Given the description of an element on the screen output the (x, y) to click on. 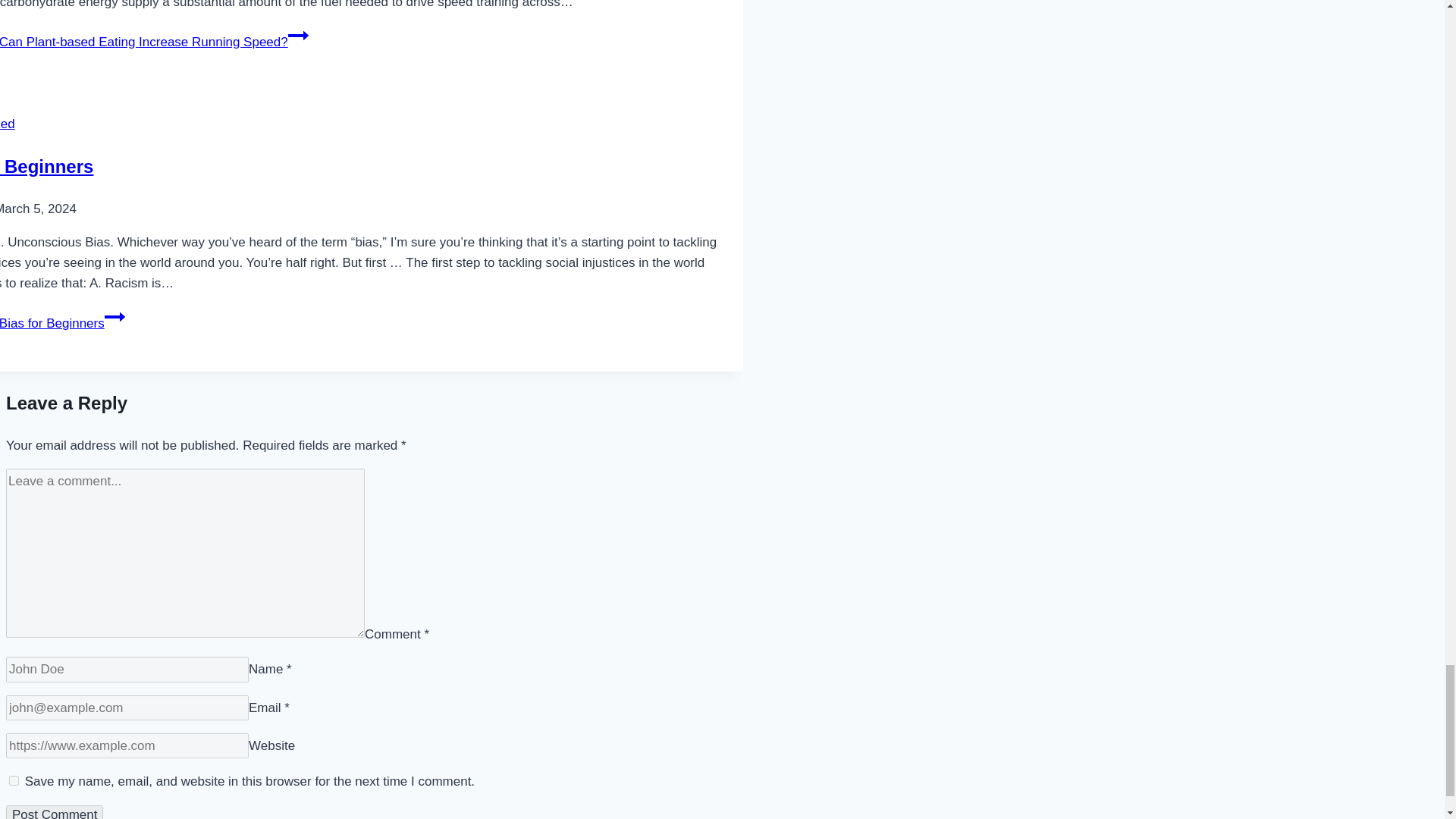
Bias for Beginners (46, 166)
Continue (114, 316)
yes (13, 780)
Read More Bias for BeginnersContinue (62, 323)
Continue (298, 35)
Uncategorized (7, 124)
